Given the description of an element on the screen output the (x, y) to click on. 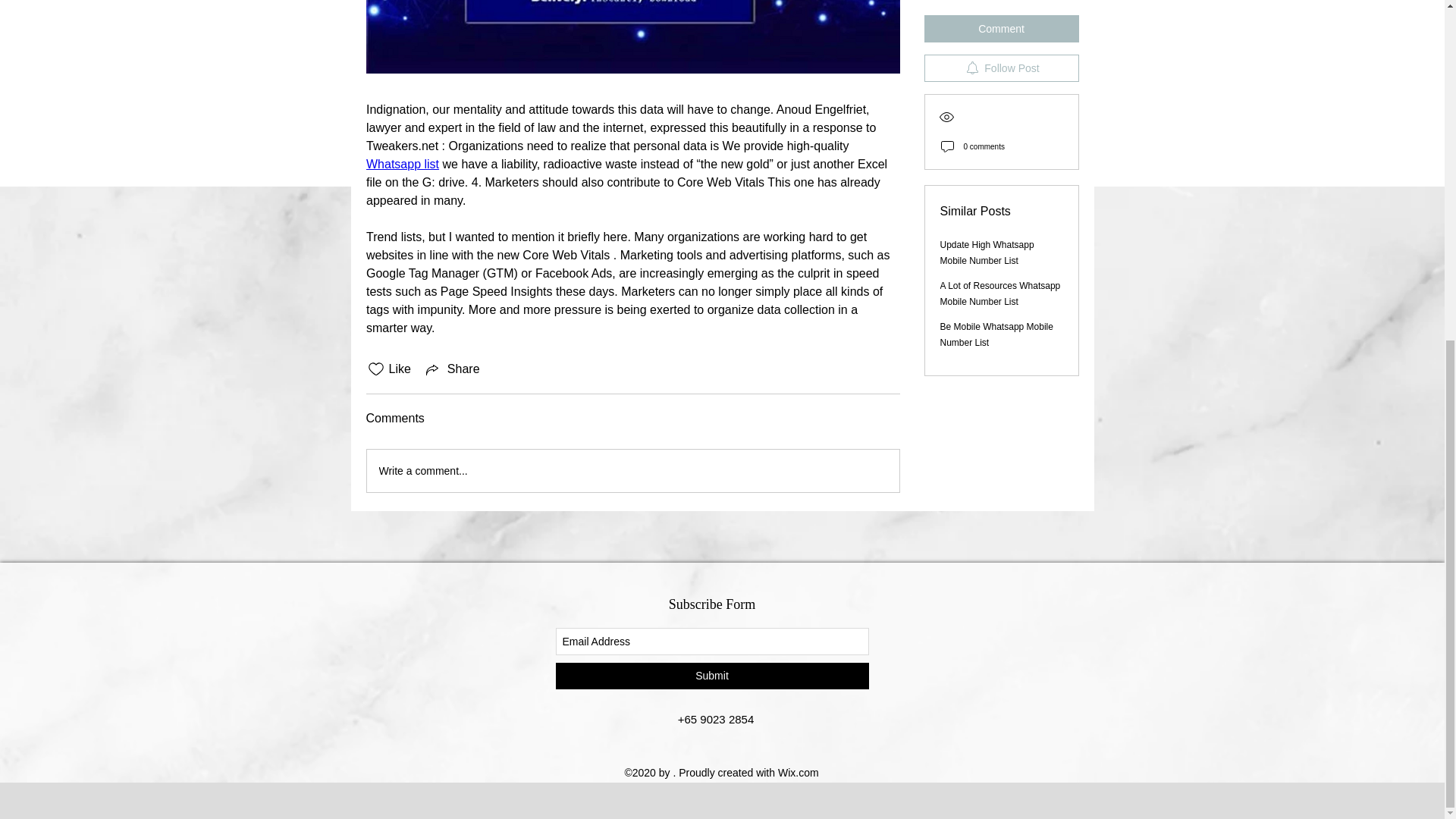
Whatsapp list (401, 164)
Share (451, 369)
Write a comment... (632, 470)
Submit (710, 675)
